Given the description of an element on the screen output the (x, y) to click on. 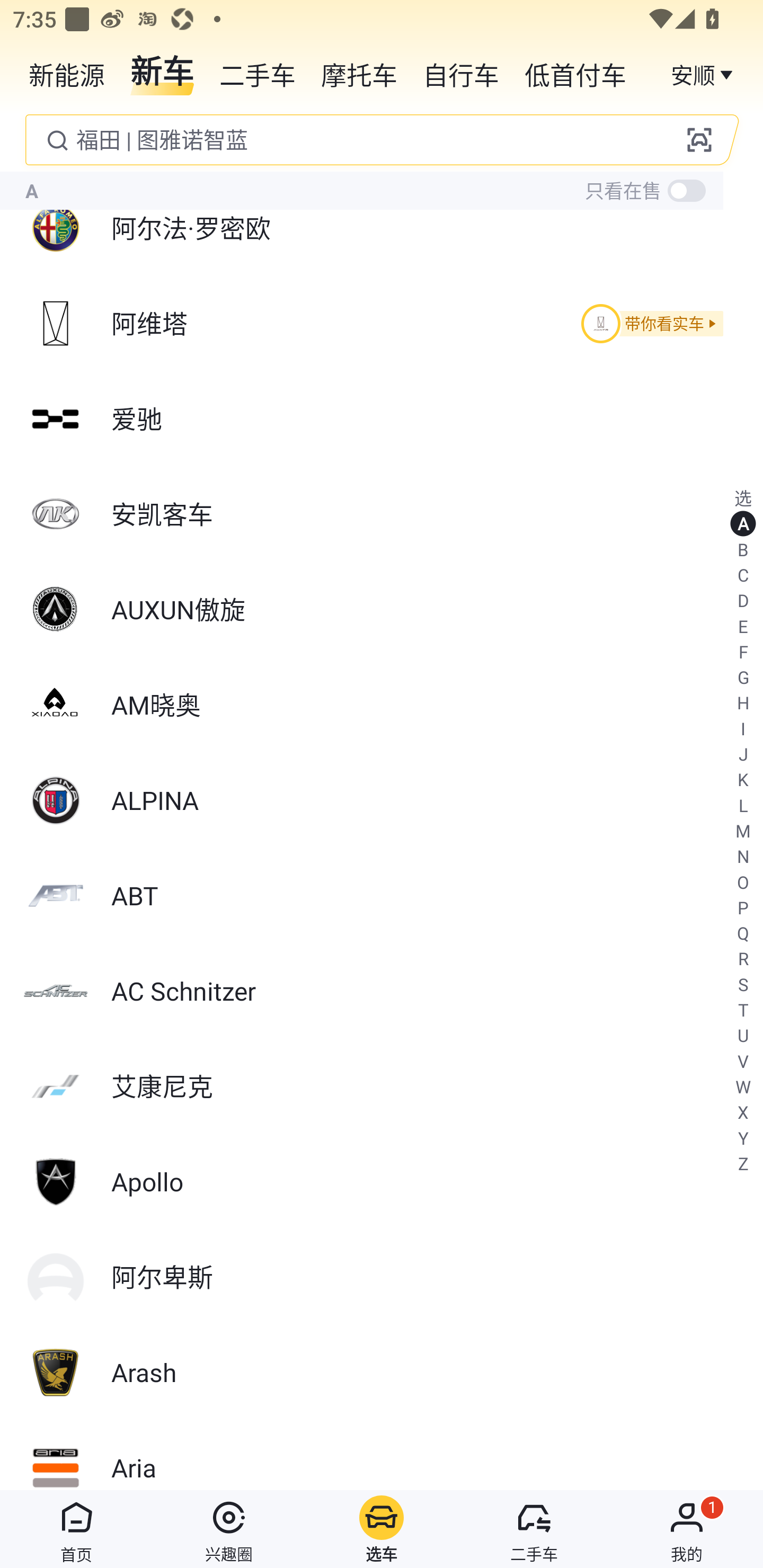
新能源 (66, 72)
新车 (161, 72)
二手车 (257, 72)
摩托车 (359, 72)
自行车 (460, 72)
低首付车 (575, 72)
安顺 (703, 72)
阿尔法·罗密欧 (381, 227)
阿维塔 带你看实车  (381, 323)
带你看实车  (649, 323)
爱驰 (381, 419)
安凯客车 (381, 514)
AUXUN傲旋 (381, 608)
AM晓奥 (381, 704)
ALPINA (381, 800)
ABT (381, 895)
AC Schnitzer (381, 990)
艾康尼克 (381, 1085)
Apollo (381, 1181)
阿尔卑斯 (381, 1276)
Arash (381, 1372)
Aria (381, 1454)
 首页 (76, 1528)
 兴趣圈 (228, 1528)
选车 (381, 1528)
 二手车 (533, 1528)
 我的 (686, 1528)
